Given the description of an element on the screen output the (x, y) to click on. 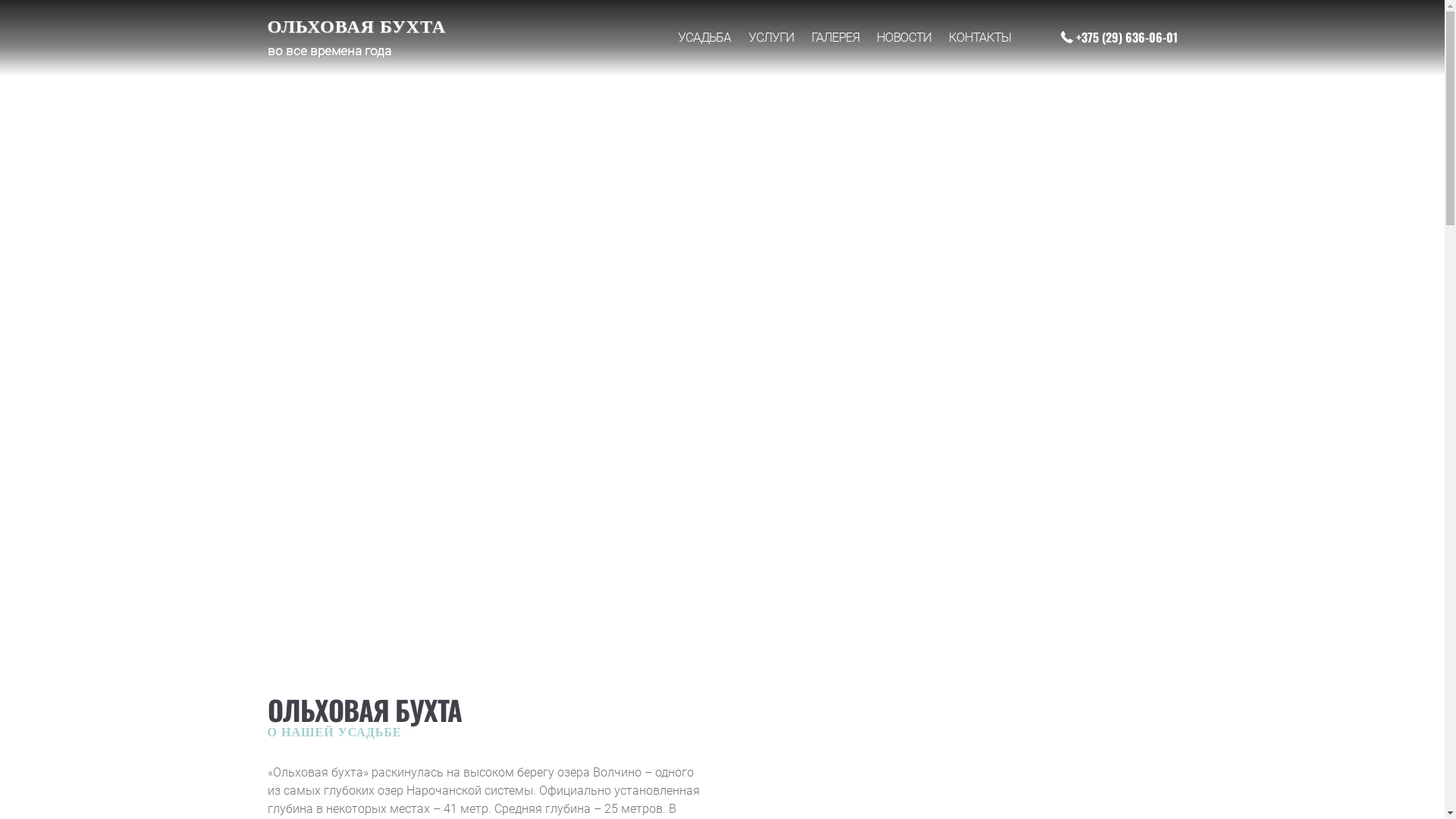
+375 (29) 636-06-01 Element type: text (1118, 36)
